Given the description of an element on the screen output the (x, y) to click on. 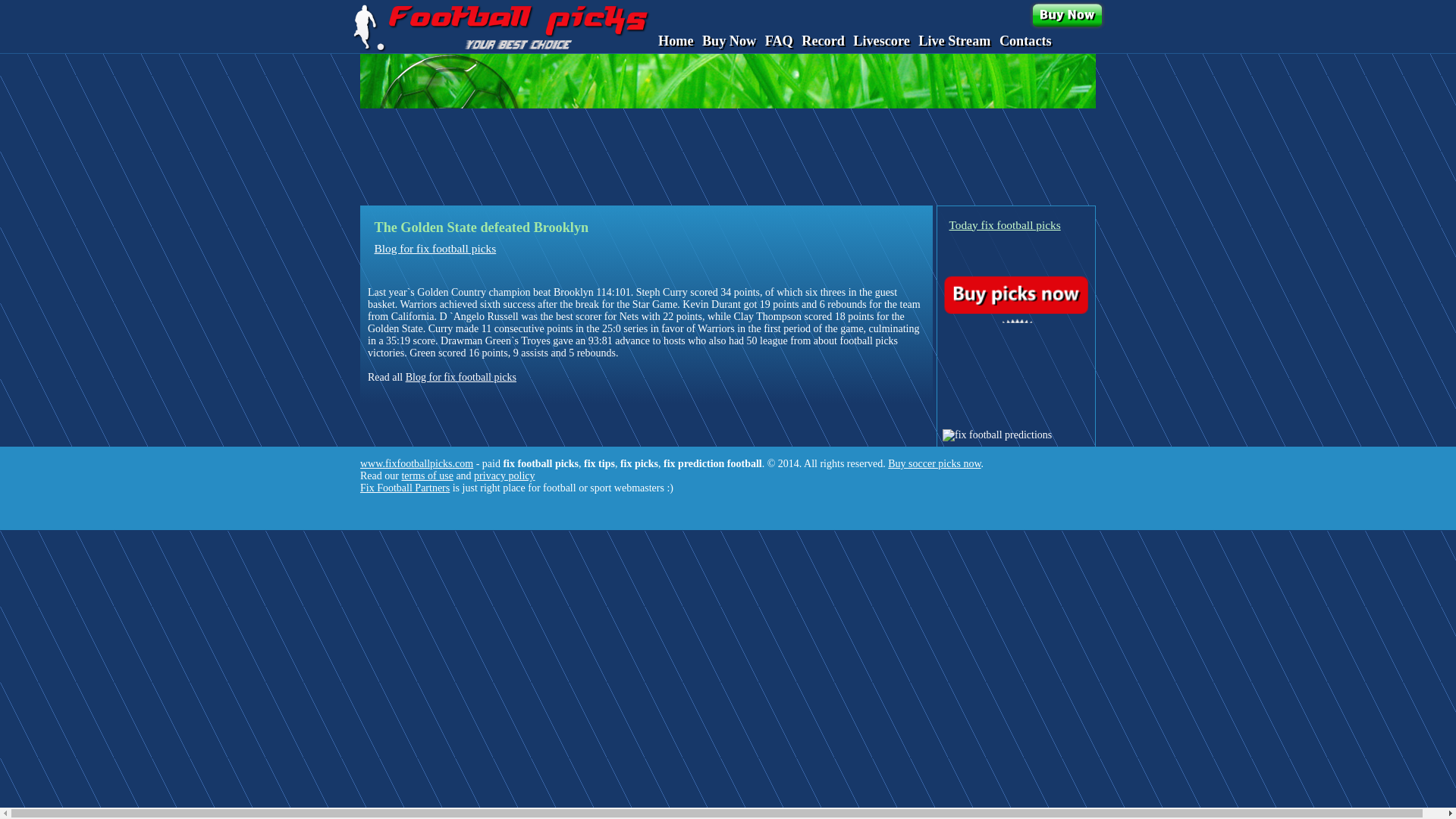
Blog for fix football picks (461, 377)
Buy reliable tips for safe bets (1015, 294)
Fix Football Partners (404, 487)
about football picks (855, 340)
FAQ (779, 40)
Blog for fix football picks (435, 247)
Buy Now (728, 40)
The best sport tips you can buy (500, 27)
Record (823, 40)
Home (675, 40)
Buy soccer picks now (933, 463)
terms of use (426, 475)
privacy policy (504, 475)
Live Stream (954, 40)
The best sport tips you can buy (1066, 15)
